Given the description of an element on the screen output the (x, y) to click on. 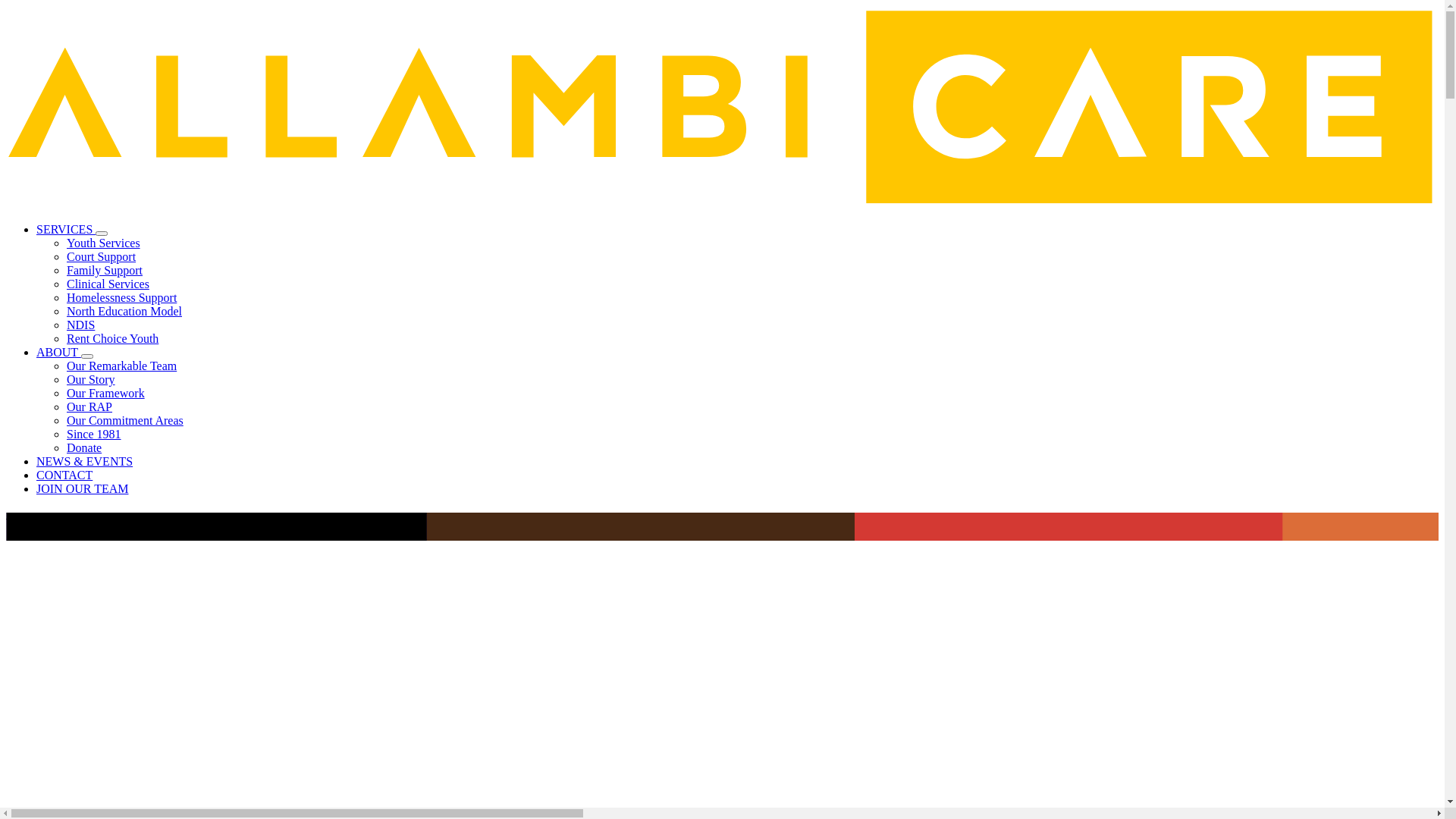
SERVICES Element type: text (65, 228)
Our RAP Element type: text (89, 406)
Rent Choice Youth Element type: text (112, 338)
CONTACT Element type: text (64, 474)
Family Support Element type: text (104, 269)
Court Support Element type: text (100, 256)
JOIN OUR TEAM Element type: text (82, 488)
Since 1981 Element type: text (93, 433)
NDIS Element type: text (80, 324)
Our Commitment Areas Element type: text (124, 420)
Clinical Services Element type: text (107, 283)
NEWS & EVENTS Element type: text (84, 461)
Homelessness Support Element type: text (121, 297)
ABOUT Element type: text (58, 351)
Our Framework Element type: text (105, 392)
Our Remarkable Team Element type: text (121, 365)
Our Story Element type: text (90, 379)
Donate Element type: text (83, 447)
North Education Model Element type: text (124, 310)
Youth Services Element type: text (103, 242)
